Given the description of an element on the screen output the (x, y) to click on. 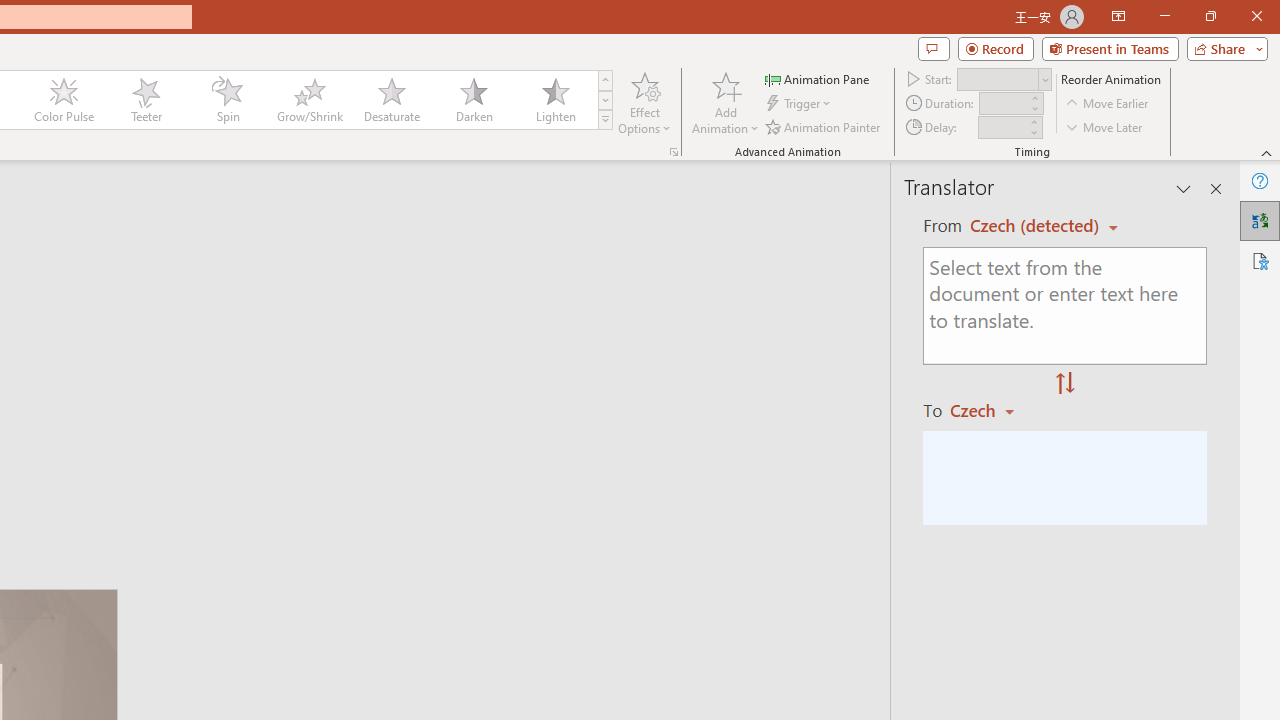
Swap "from" and "to" languages. (1065, 383)
Start (1004, 78)
Accessibility (1260, 260)
Darken (473, 100)
Grow/Shrink (309, 100)
Color Pulse (63, 100)
Row Down (605, 100)
Close pane (1215, 188)
Add Animation (725, 102)
